Given the description of an element on the screen output the (x, y) to click on. 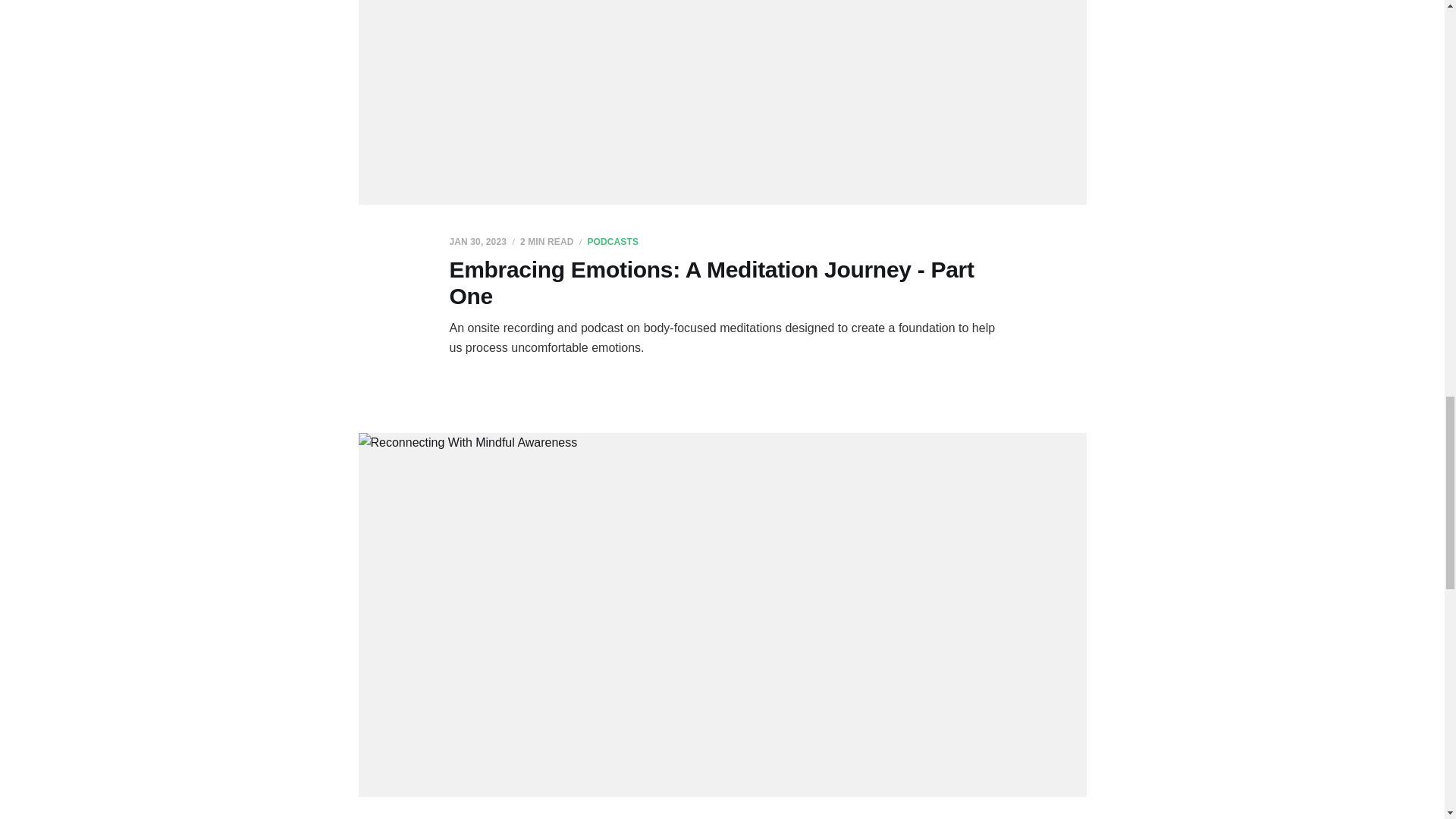
PODCASTS (612, 241)
Podcasts (612, 241)
Embracing Emotions: A Meditation Journey - Part One (711, 282)
